Given the description of an element on the screen output the (x, y) to click on. 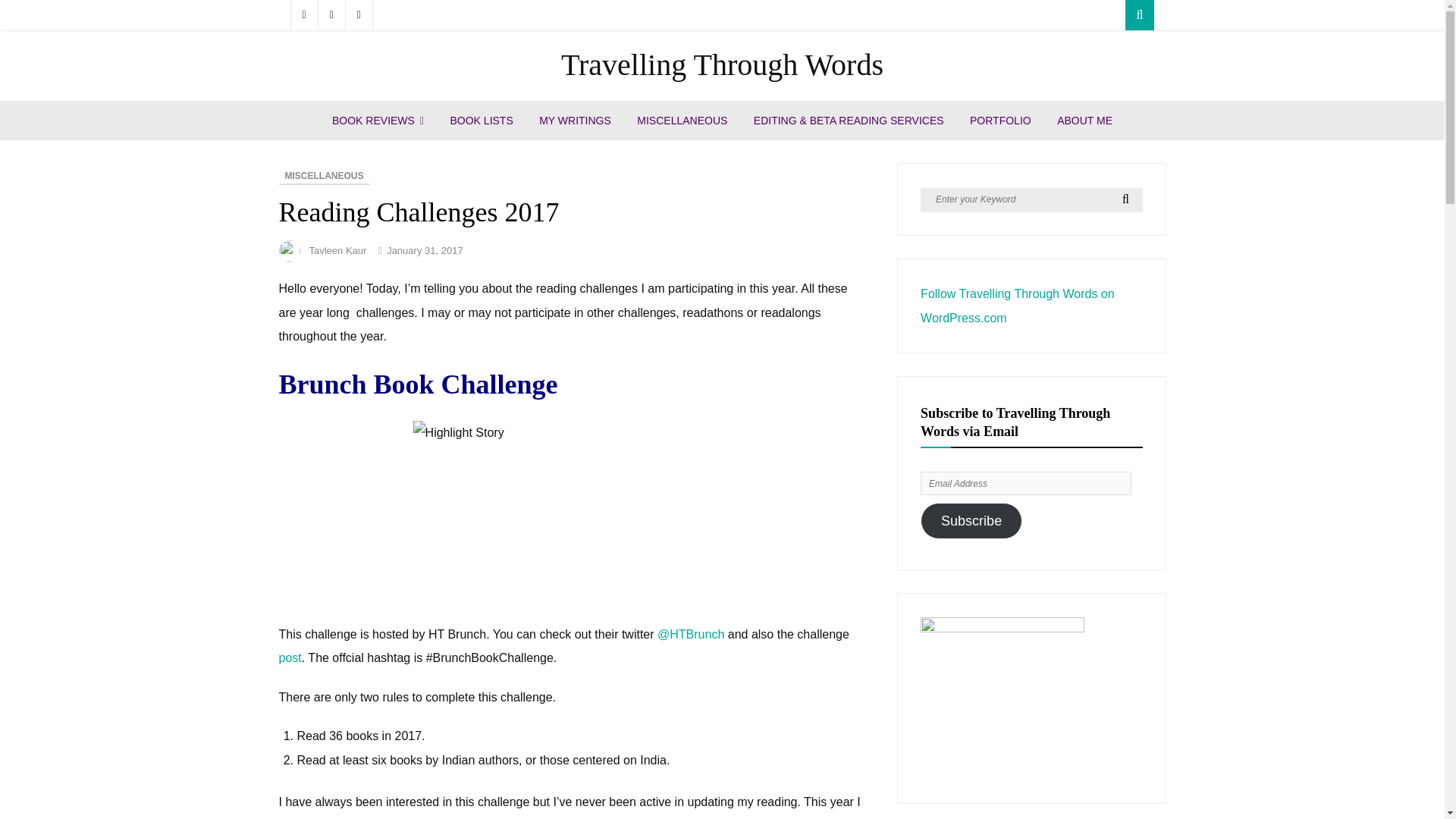
MISCELLANEOUS (324, 176)
Twitter (332, 15)
ABOUT ME (1084, 120)
MISCELLANEOUS (682, 120)
BOOK REVIEWS (377, 120)
PORTFOLIO (1000, 120)
MY WRITINGS (575, 120)
Facebook (303, 15)
Tavleen Kaur (337, 250)
post (290, 657)
